Given the description of an element on the screen output the (x, y) to click on. 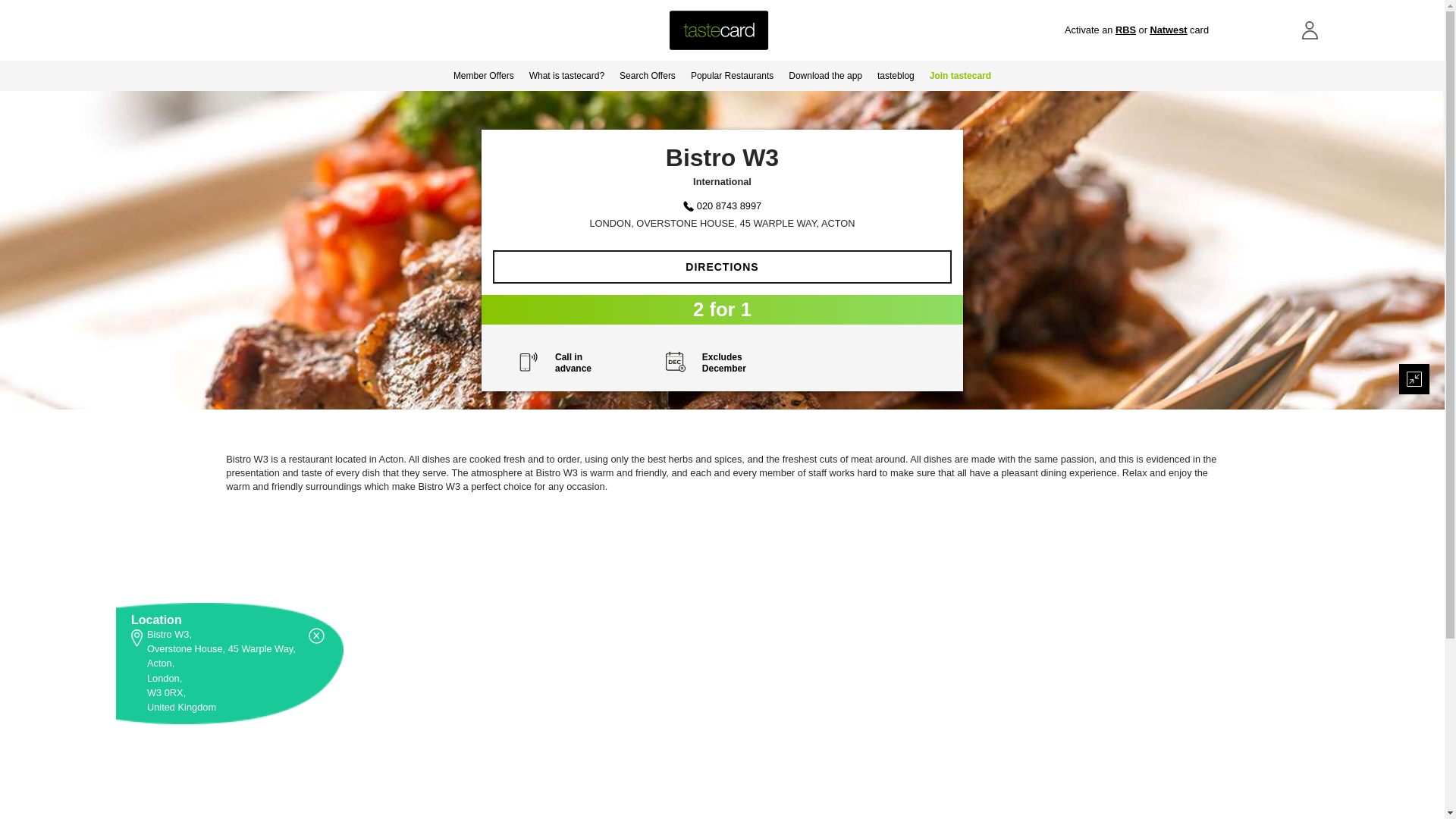
Natwest (1168, 30)
DIRECTIONS (722, 266)
Member Offers (483, 75)
020 8743 8997 (729, 205)
tasteblog (895, 75)
Search Offers (646, 75)
What is tastecard? (566, 75)
Popular Restaurants (731, 75)
Download the app (824, 75)
Join tastecard (959, 75)
